Given the description of an element on the screen output the (x, y) to click on. 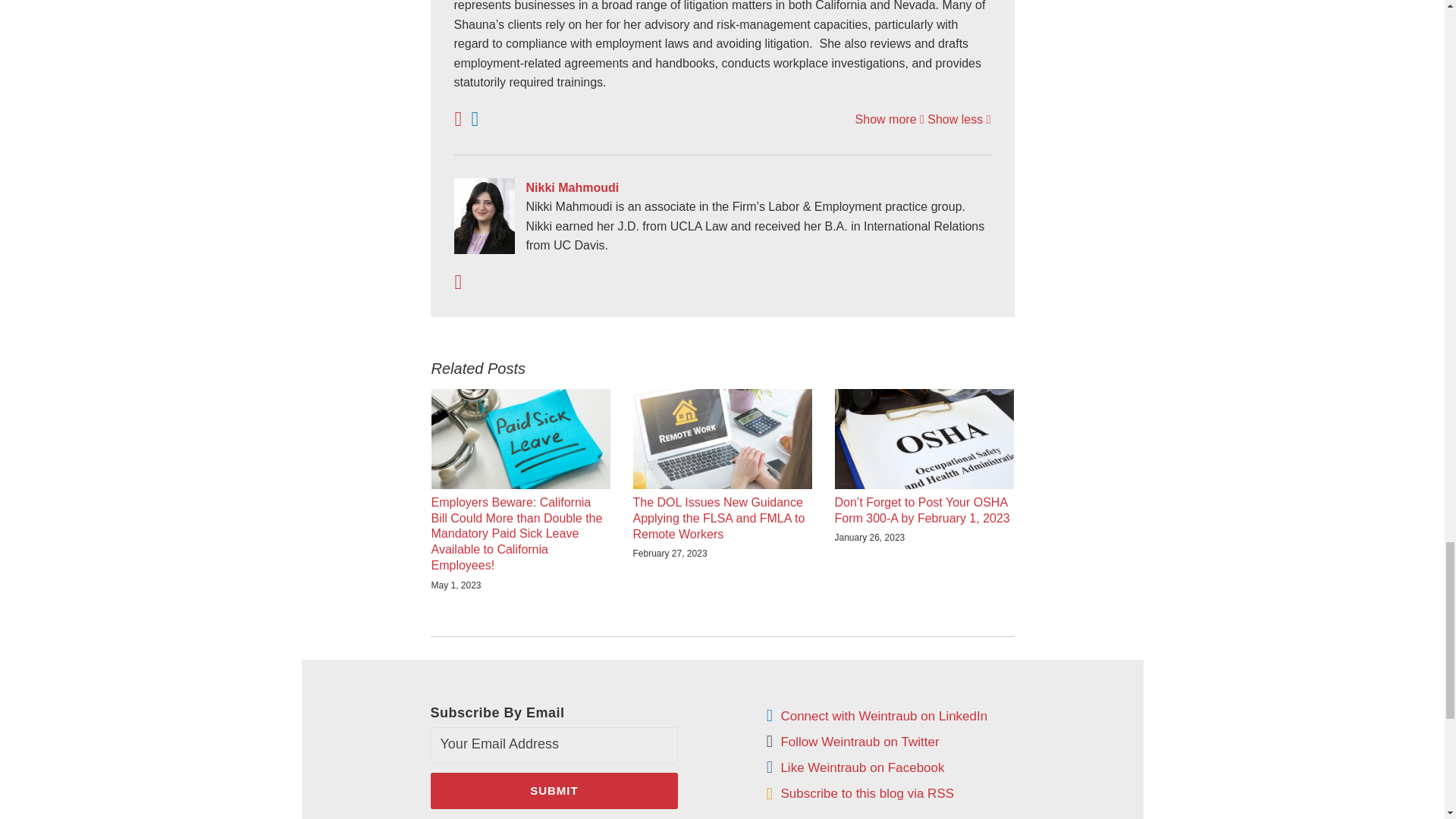
Nikki Mahmoudi (721, 188)
Submit (554, 791)
Show less (958, 119)
Show more (890, 119)
